Given the description of an element on the screen output the (x, y) to click on. 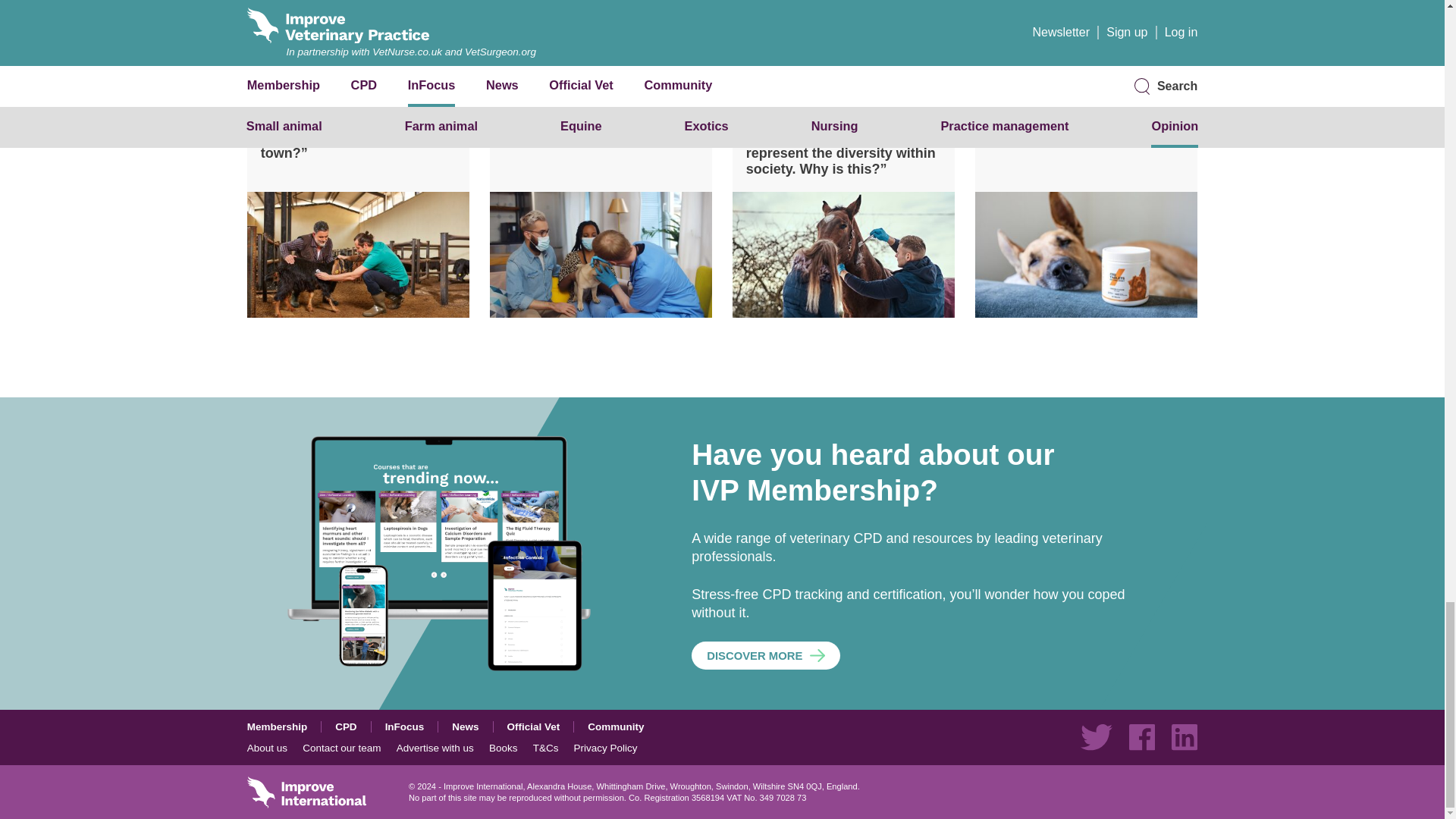
Veterinary Practice on Facebook (1141, 736)
Veterinary Practice on LinkedIn (1184, 736)
Veterinary Practice on Twitter (1096, 736)
